Given the description of an element on the screen output the (x, y) to click on. 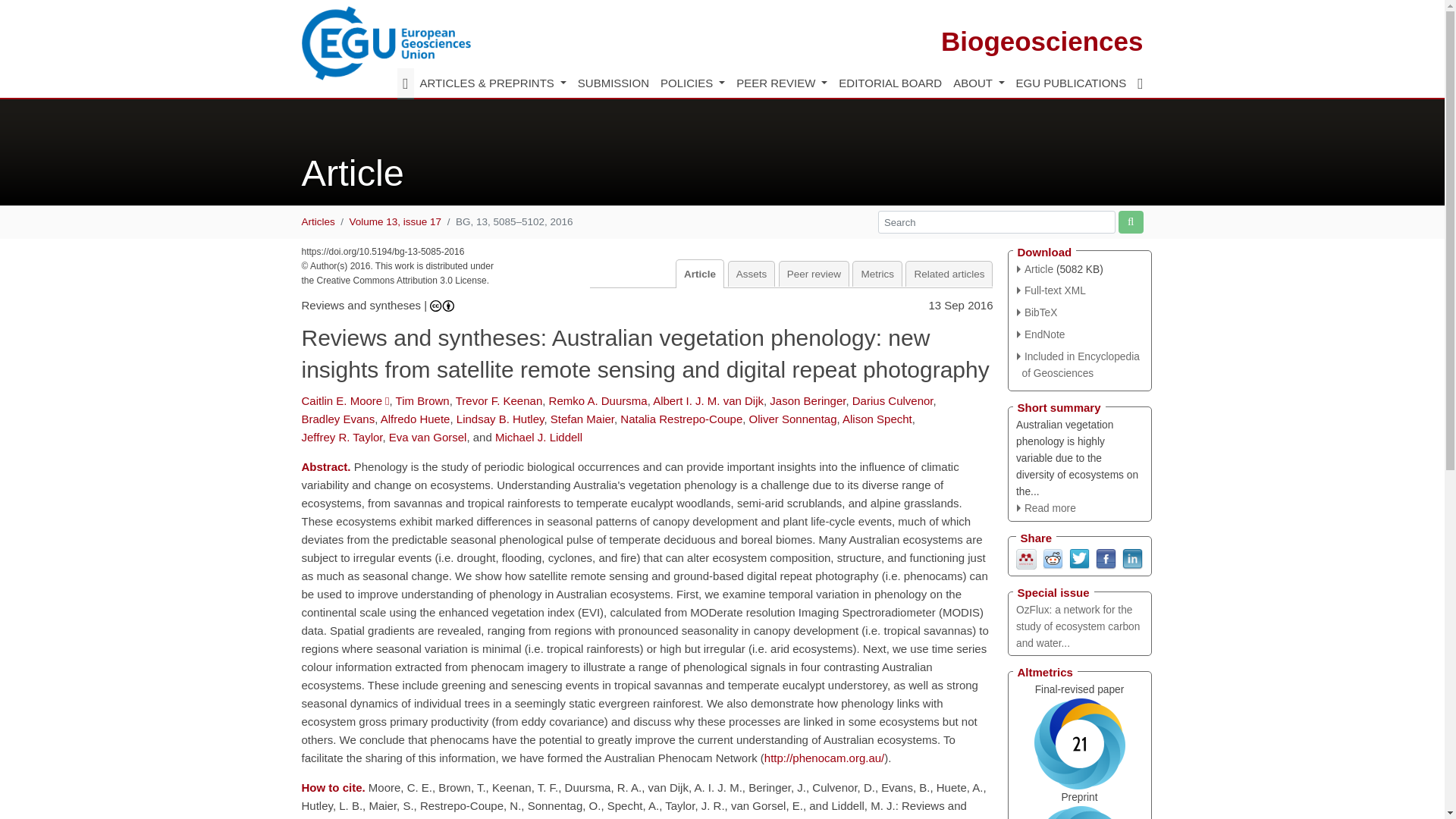
Mendeley (1026, 557)
Reddit (1052, 557)
PEER REVIEW (781, 83)
Biogeosciences (1041, 41)
Twitter (1078, 557)
POLICIES (691, 83)
XML Version (1051, 290)
Start site search (1130, 221)
SUBMISSION (612, 83)
